Given the description of an element on the screen output the (x, y) to click on. 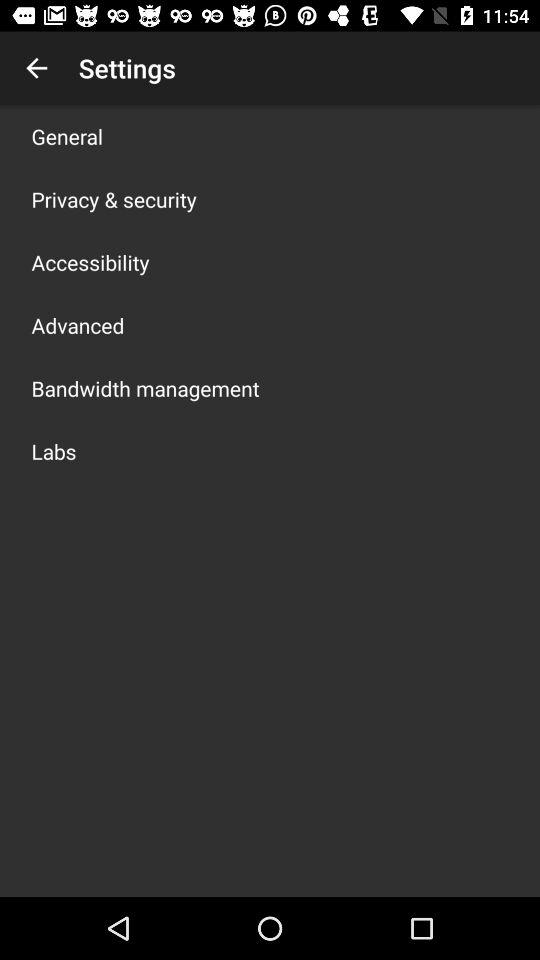
press icon above the privacy & security (67, 136)
